Given the description of an element on the screen output the (x, y) to click on. 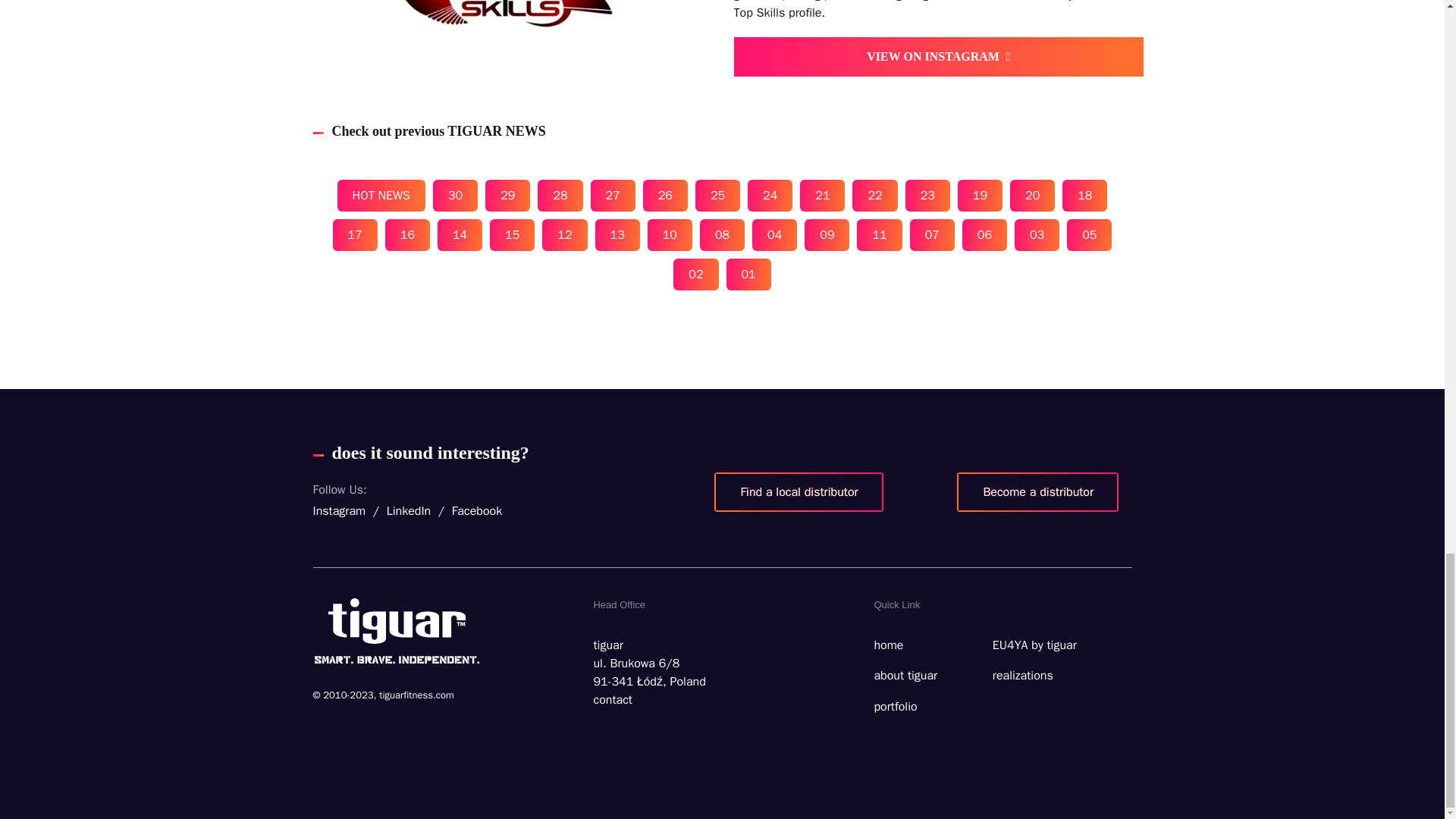
15 (511, 234)
30 (454, 195)
20 (1032, 195)
25 (717, 195)
26 (665, 195)
10 (670, 234)
22 (873, 195)
24 (770, 195)
17 (355, 234)
18 (1084, 195)
